Given the description of an element on the screen output the (x, y) to click on. 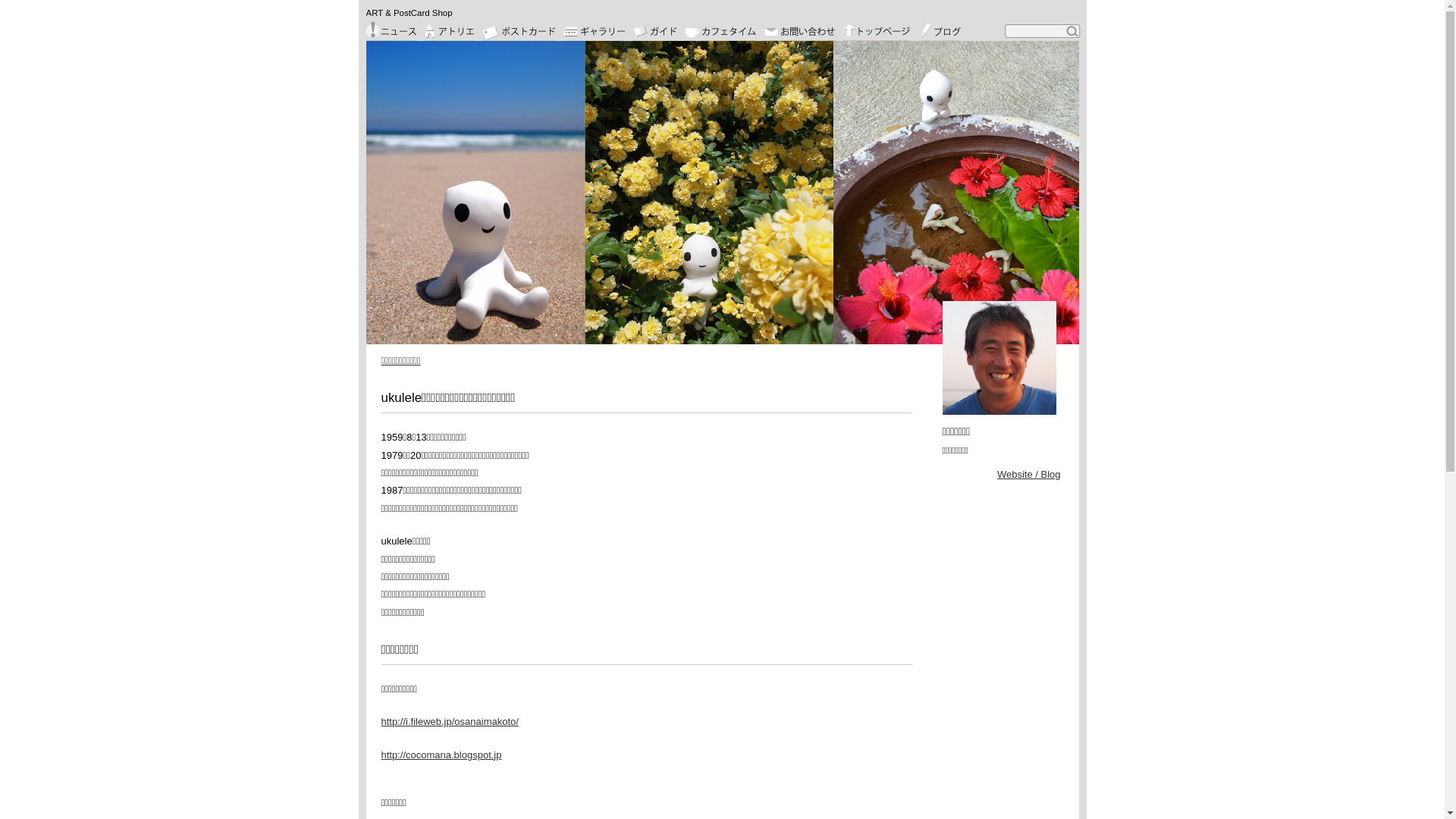
http://cocomana.blogspot.jp Element type: text (440, 754)
Website / Blog Element type: text (1028, 474)
http://i.fileweb.jp/osanaimakoto/ Element type: text (448, 721)
